Given the description of an element on the screen output the (x, y) to click on. 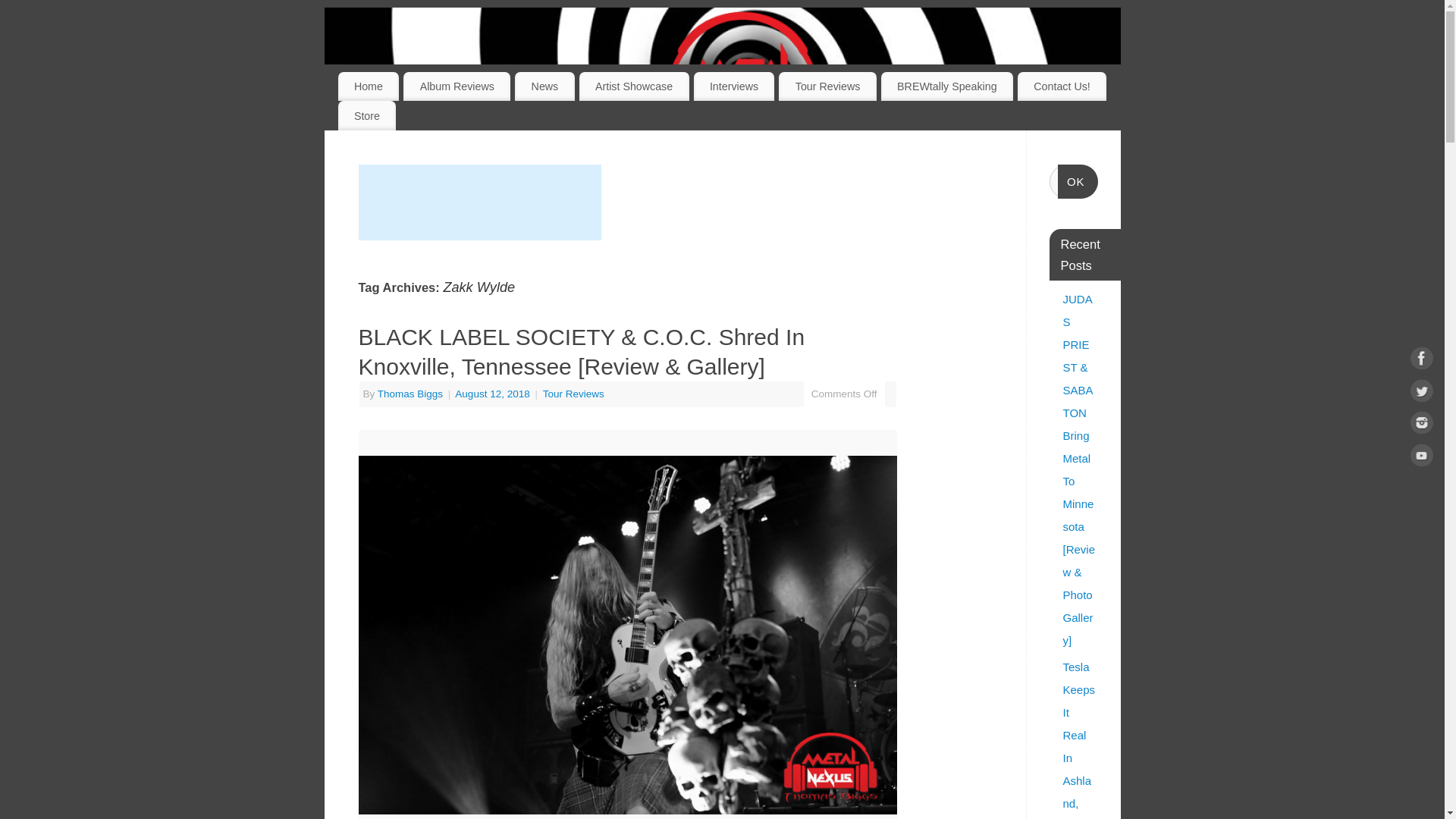
Thomas Biggs (409, 393)
BREWtally Speaking (946, 86)
Metal Nexus (741, 82)
News (544, 86)
Contact Us! (1061, 86)
Tour Reviews (827, 86)
4:25 am (493, 393)
Store (366, 114)
View all posts by Thomas Biggs (409, 393)
Interviews (734, 86)
